Given the description of an element on the screen output the (x, y) to click on. 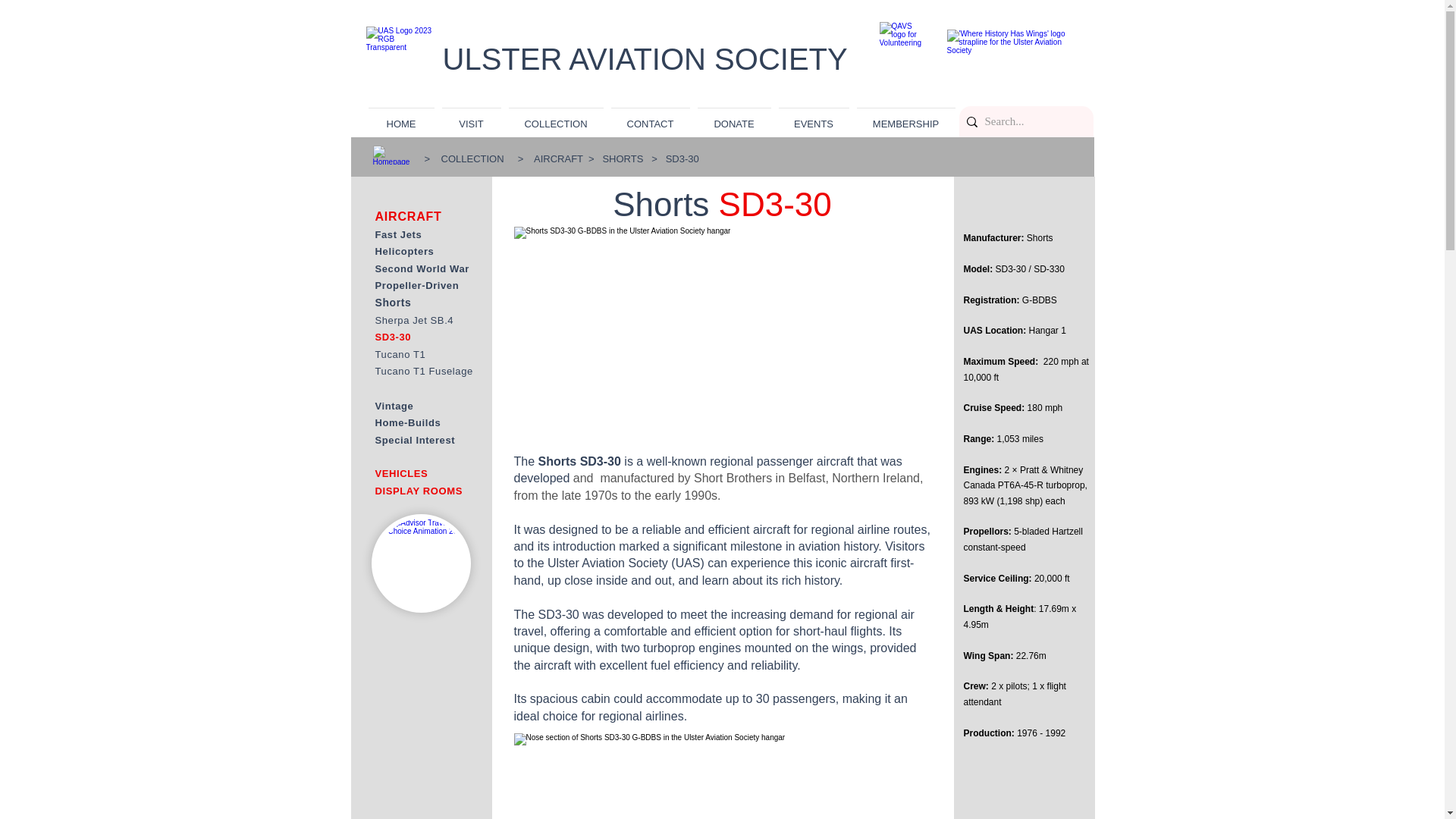
COLLECTION (556, 116)
COLLECTION (472, 158)
Helicopters (403, 251)
HOME (401, 116)
TripAdvisor Travellers Choice Animation 2024 (420, 563)
ULSTER AVIATION SOCIETY (644, 59)
Homepage Aircraft Hangar Icon (393, 154)
VISIT (471, 116)
